Given the description of an element on the screen output the (x, y) to click on. 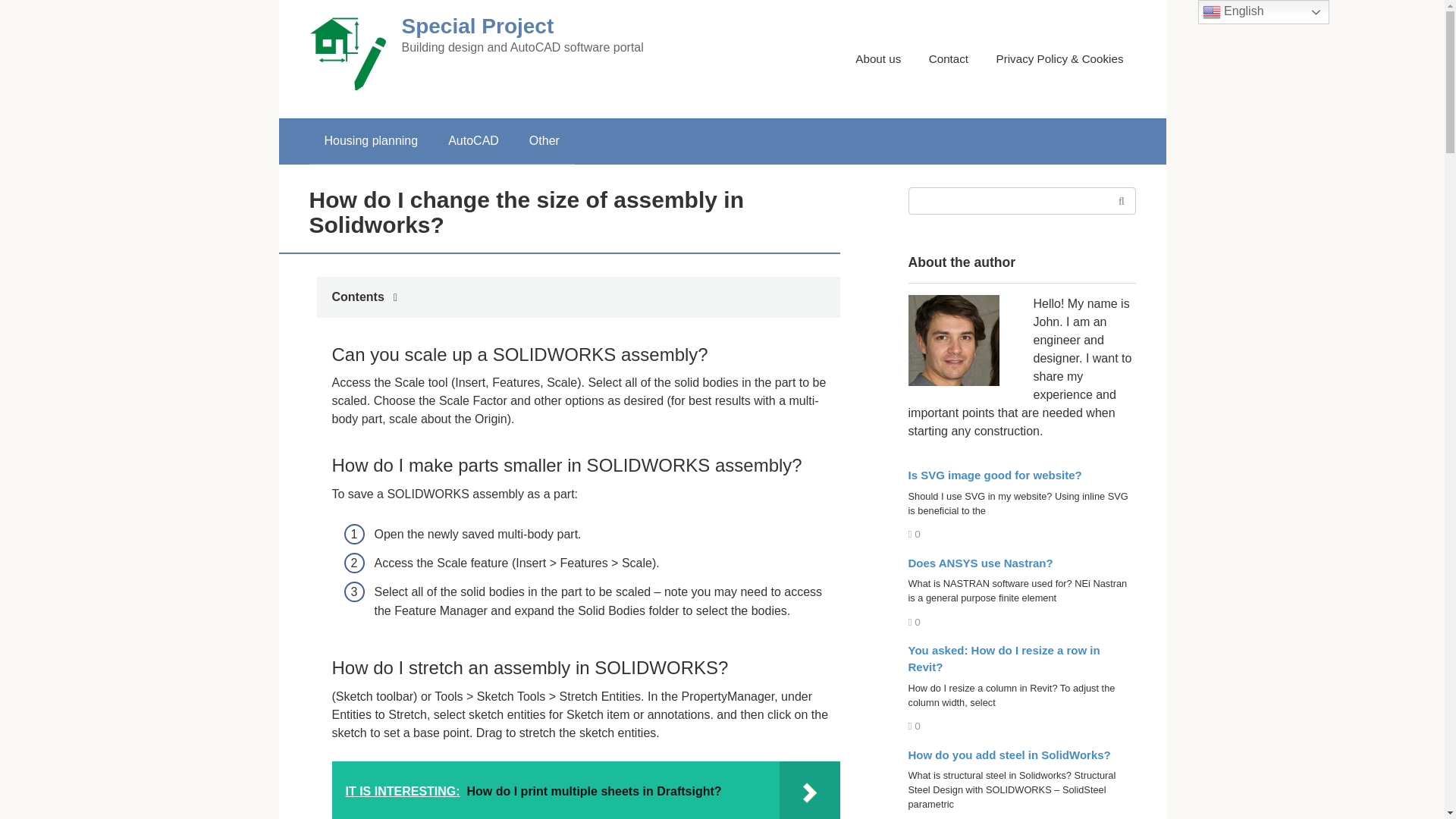
Comments (914, 533)
Special Project (477, 25)
Comments (914, 622)
Contact (948, 59)
Housing planning (370, 140)
Other (544, 140)
AutoCAD (472, 140)
About us (878, 59)
